Given the description of an element on the screen output the (x, y) to click on. 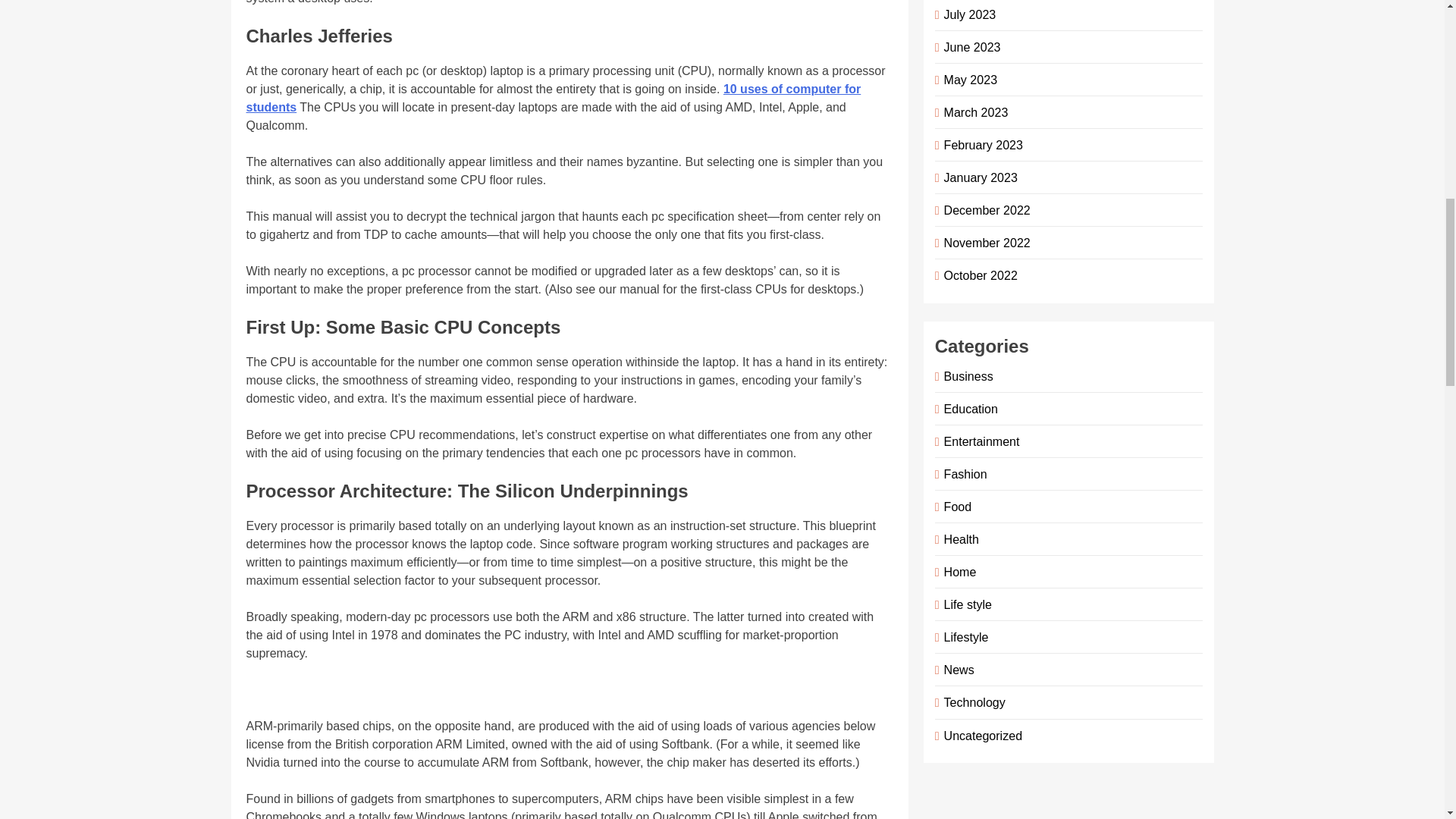
10 uses of computer for students (553, 97)
